Given the description of an element on the screen output the (x, y) to click on. 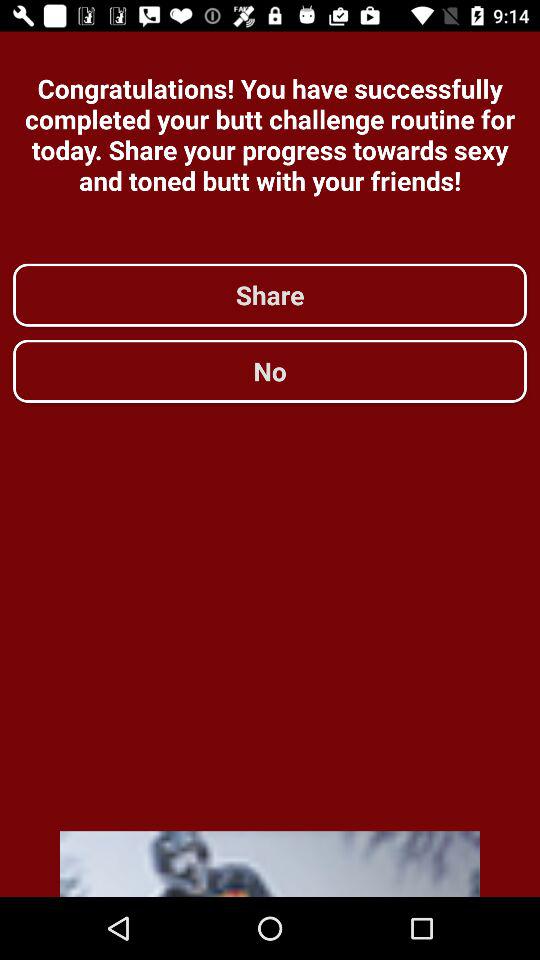
advertisement (270, 864)
